Given the description of an element on the screen output the (x, y) to click on. 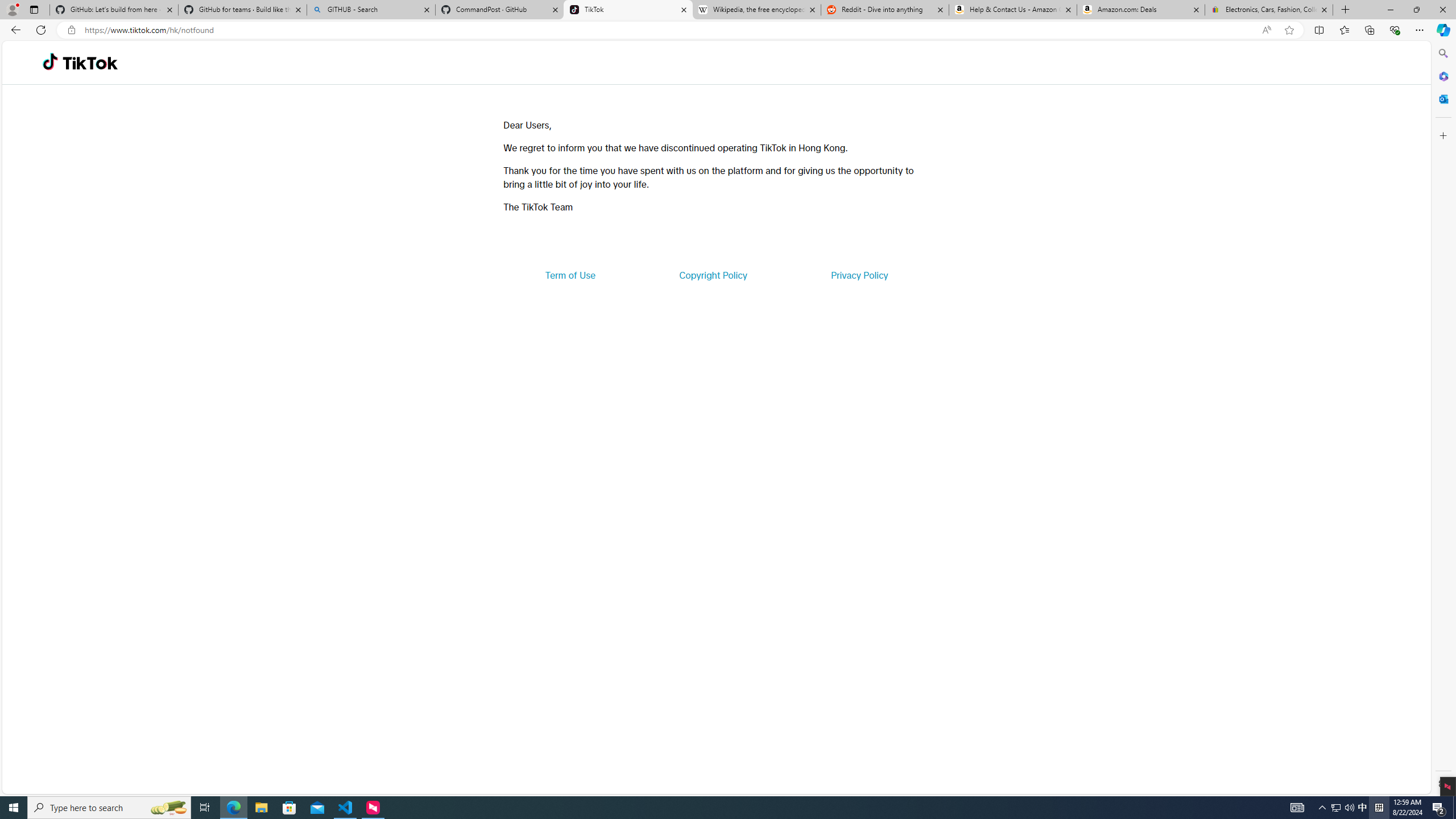
GITHUB - Search (370, 9)
Help & Contact Us - Amazon Customer Service (1012, 9)
Wikipedia, the free encyclopedia (756, 9)
